Given the description of an element on the screen output the (x, y) to click on. 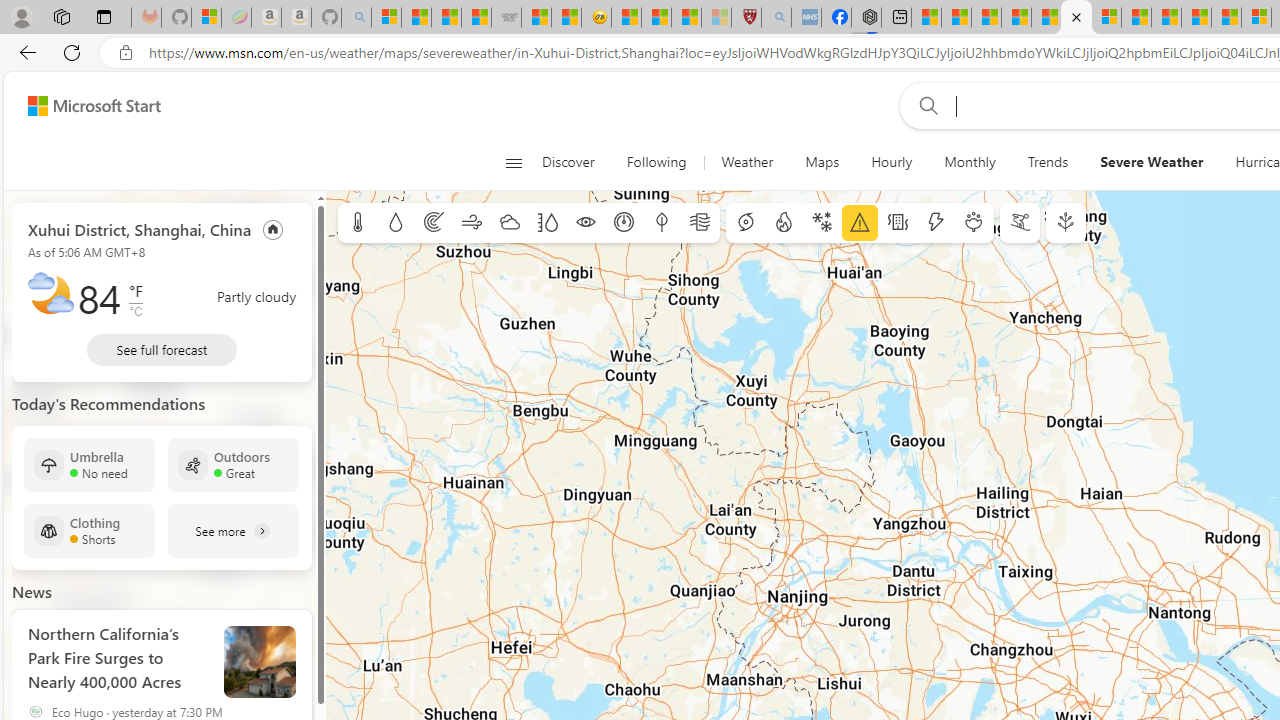
Monthly (970, 162)
Eco Hugo (35, 712)
Xuhui District, Shanghai, China (140, 228)
